Given the description of an element on the screen output the (x, y) to click on. 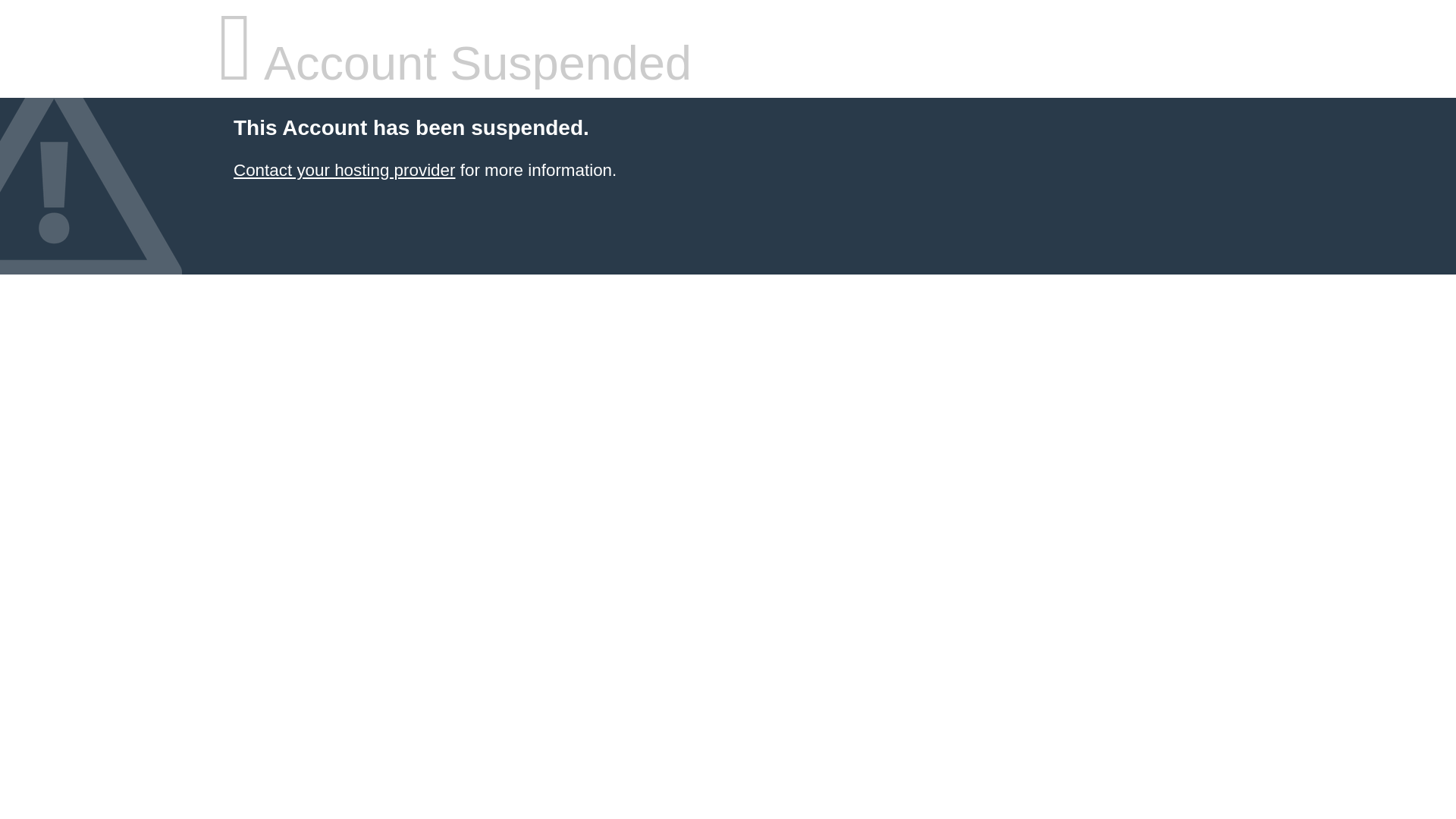
Contact your hosting provider (343, 169)
